Given the description of an element on the screen output the (x, y) to click on. 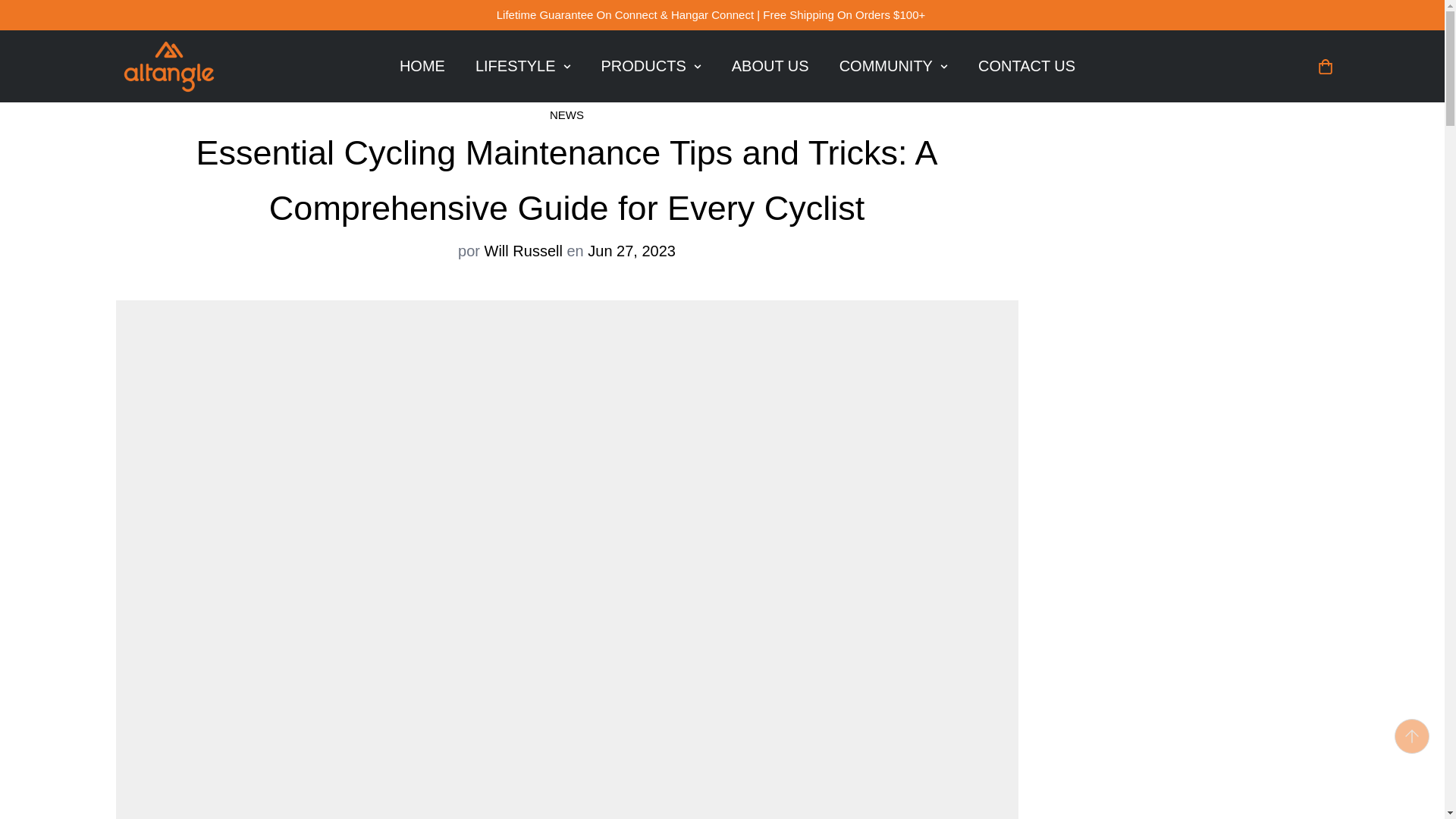
Altangle (737, 66)
ABOUT US (168, 66)
PRODUCTS (770, 66)
HOME (651, 66)
CONTACT US (422, 66)
COMMUNITY (1026, 66)
LIFESTYLE (893, 66)
